Given the description of an element on the screen output the (x, y) to click on. 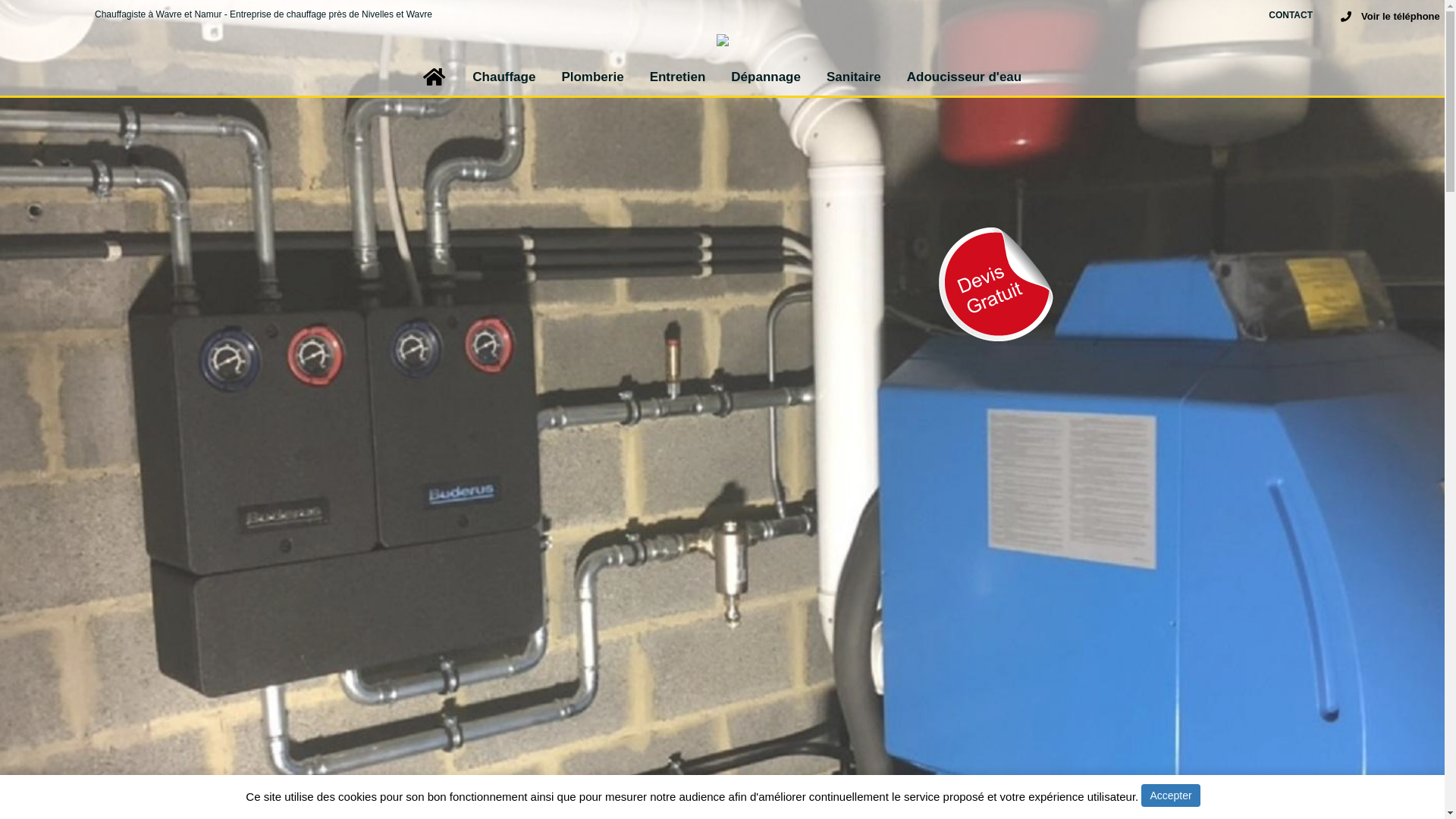
Plomberie Element type: text (591, 76)
Accepter Element type: text (1170, 795)
Sanitaire Element type: text (853, 76)
Belgique Chauffage Element type: hover (721, 45)
Entretien Element type: text (677, 76)
CONTACT Element type: text (1290, 14)
Adoucisseur d'eau Element type: text (964, 76)
Chauffage Element type: text (503, 76)
Belgique Chauffage Element type: hover (432, 76)
